Given the description of an element on the screen output the (x, y) to click on. 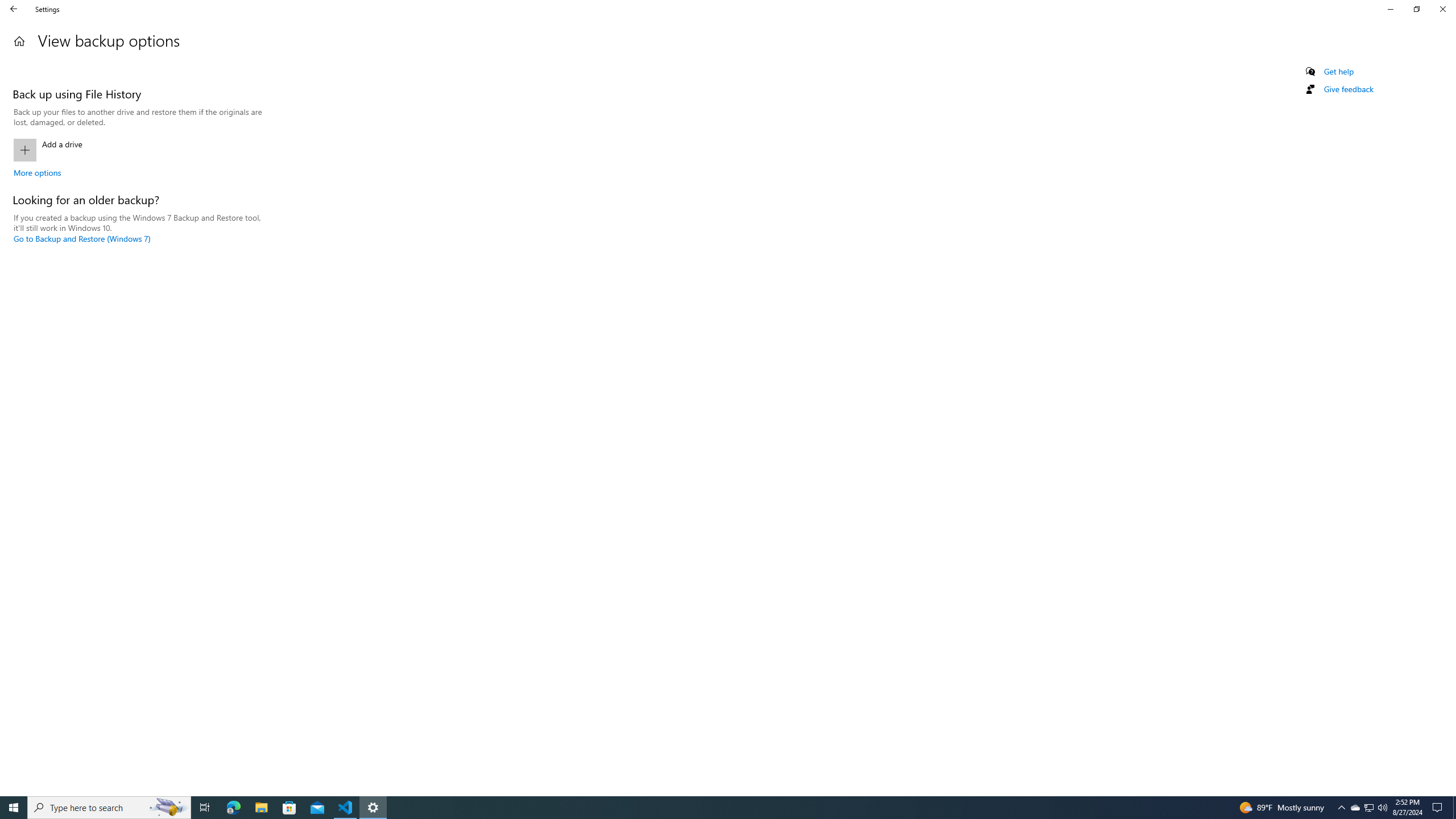
Add a drive (137, 149)
